Given the description of an element on the screen output the (x, y) to click on. 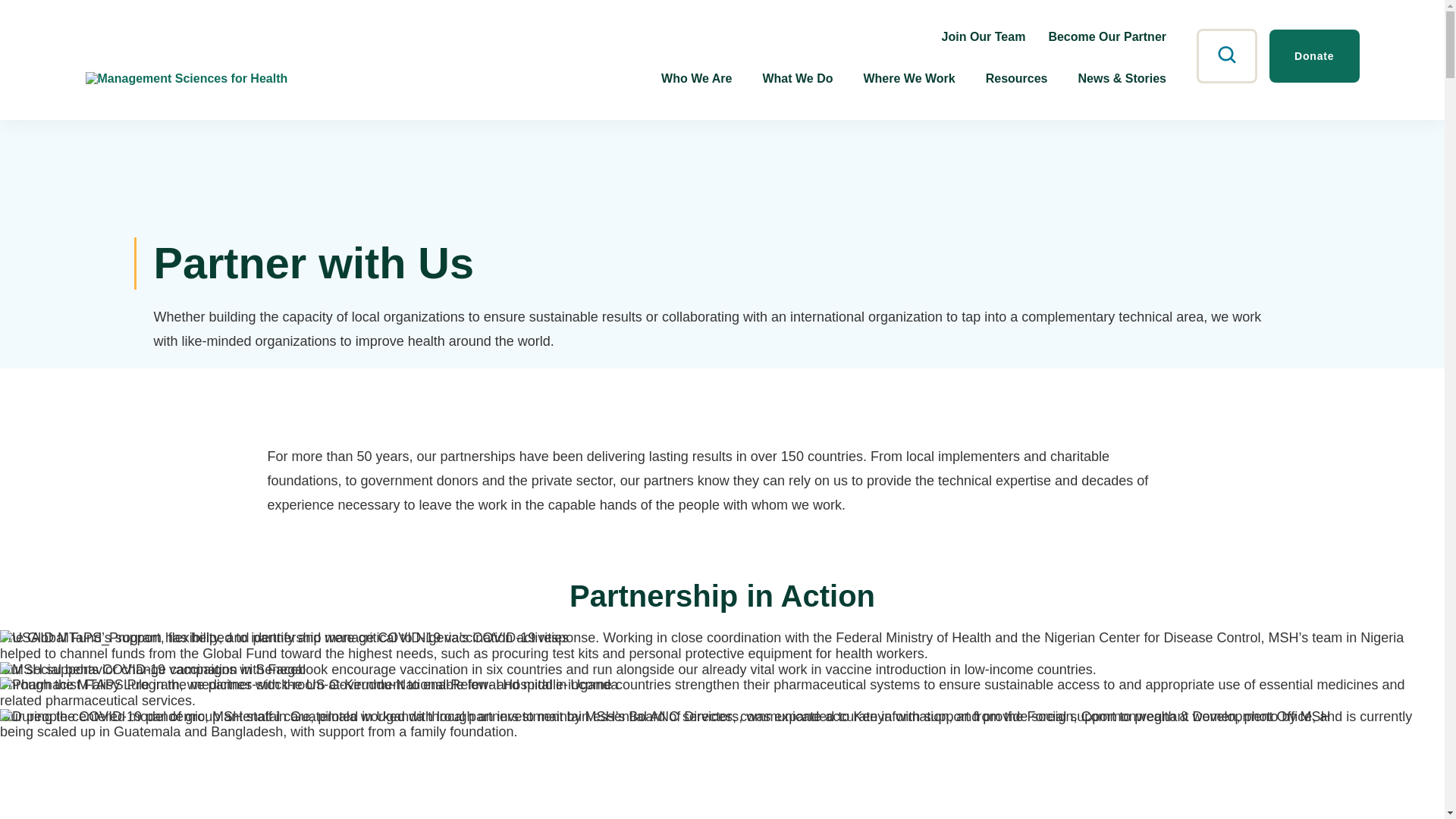
What We Do (796, 78)
Become Our Partner (1107, 36)
Where We Work (909, 78)
Who We Are (696, 78)
Search (1226, 55)
Resources (1016, 78)
Join Our Team (984, 36)
Donate (1314, 55)
